Given the description of an element on the screen output the (x, y) to click on. 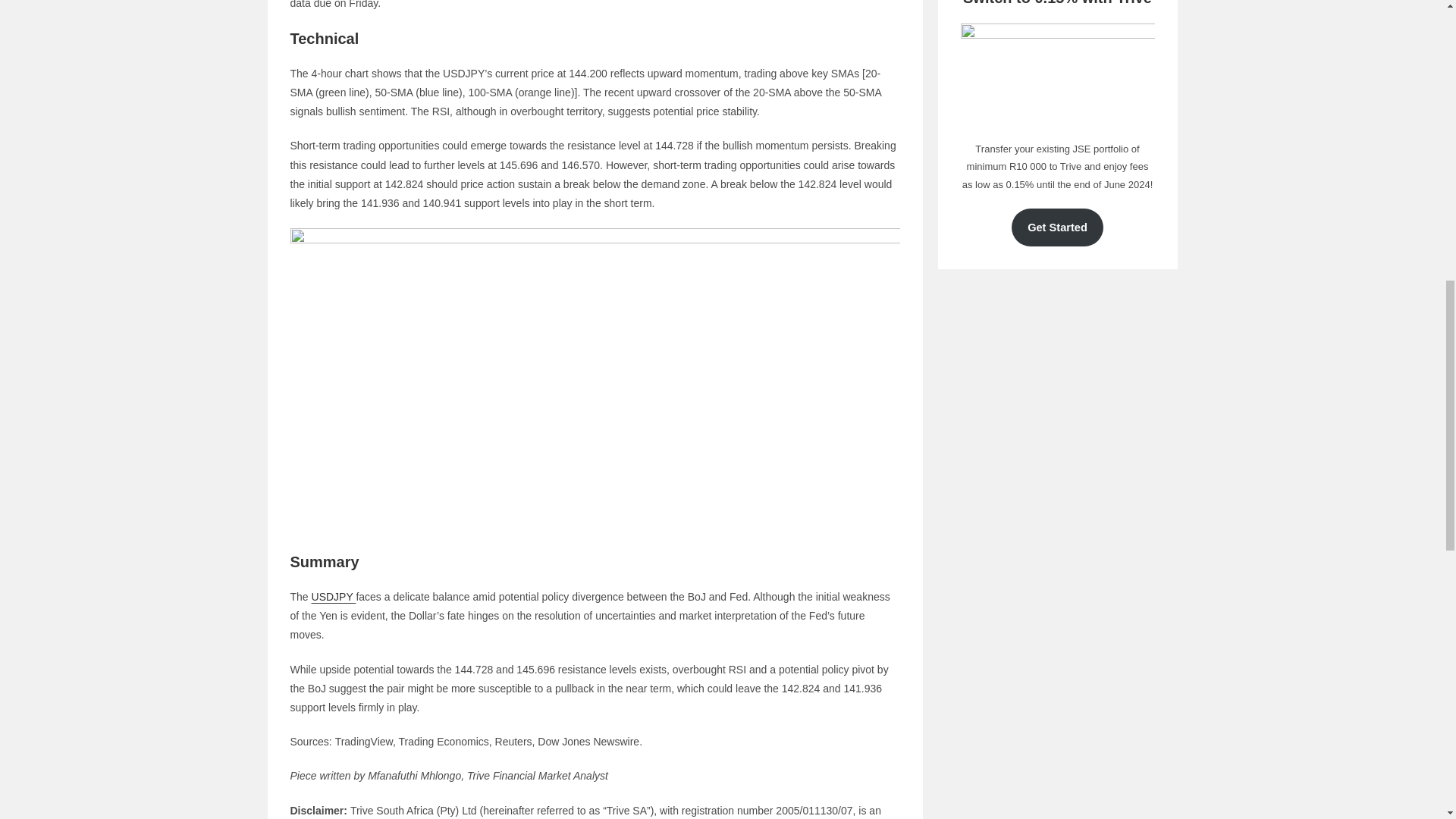
Get Started (1057, 227)
USDJPY (333, 596)
